Given the description of an element on the screen output the (x, y) to click on. 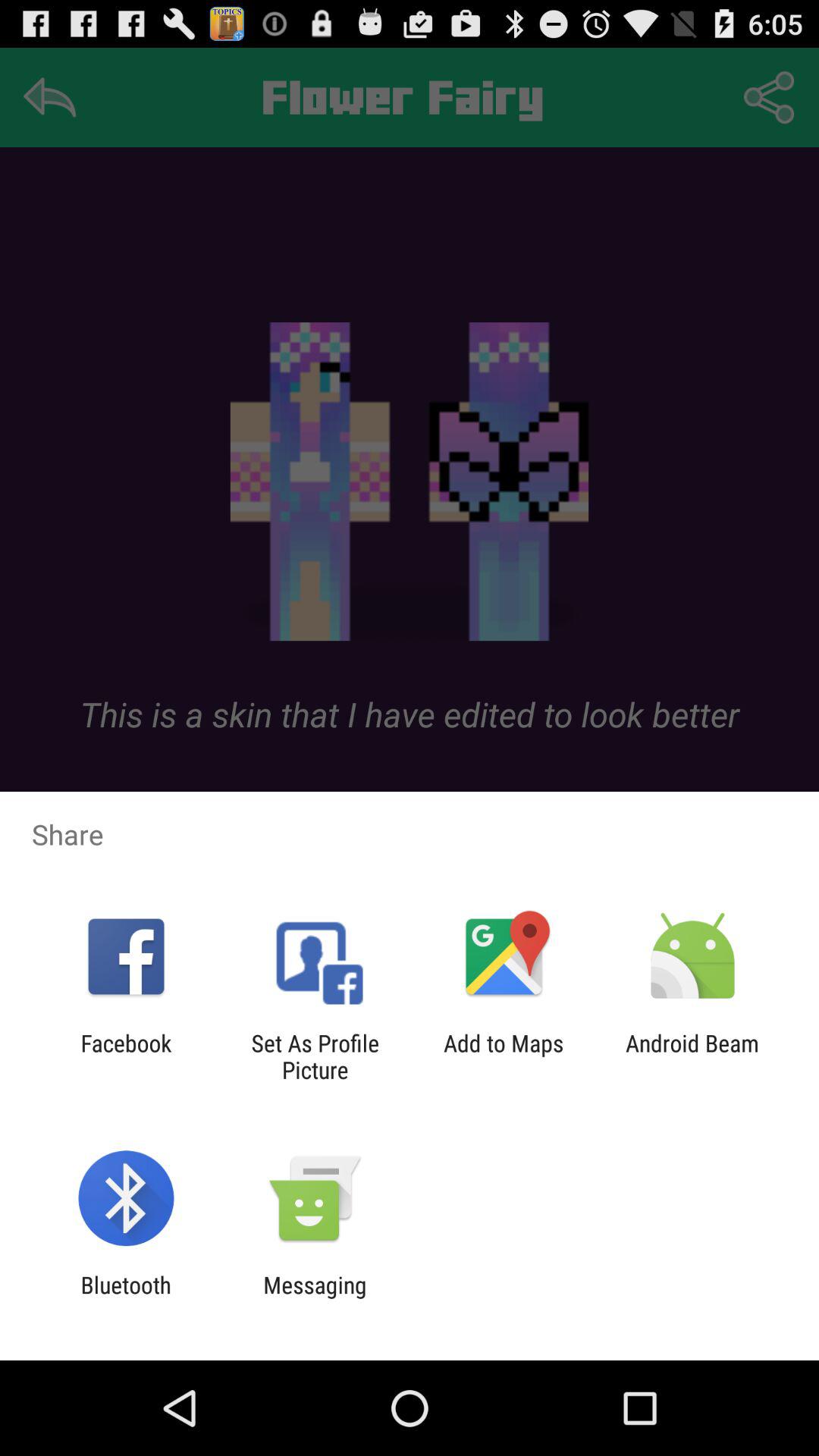
jump to the bluetooth icon (125, 1298)
